Given the description of an element on the screen output the (x, y) to click on. 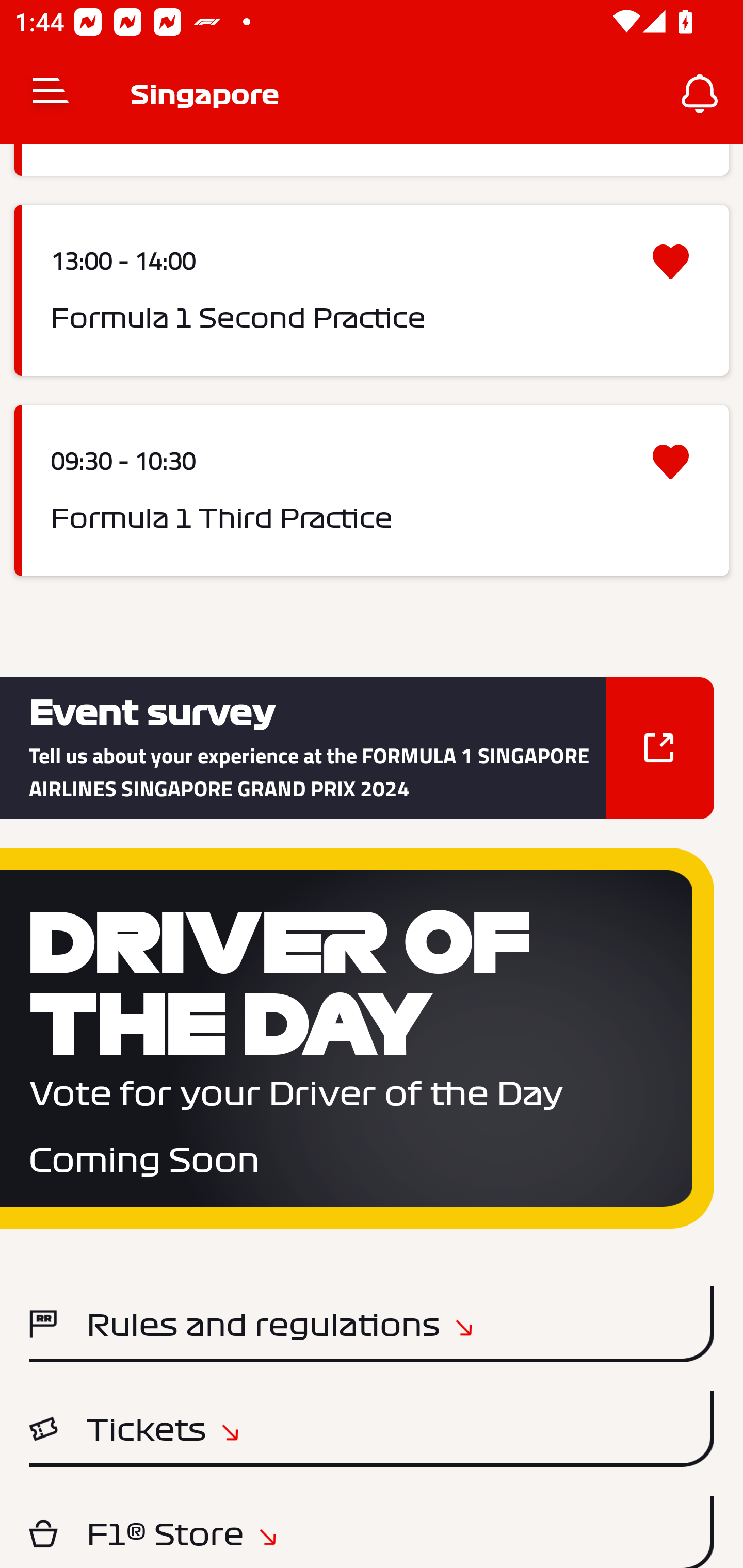
Navigate up (50, 93)
Notifications (699, 93)
13:00 - 14:00 Formula 1 Second Practice (371, 290)
09:30 - 10:30 Formula 1 Third Practice (371, 489)
Rules and regulations (371, 1323)
Tickets (371, 1428)
F1® Store (371, 1531)
